Given the description of an element on the screen output the (x, y) to click on. 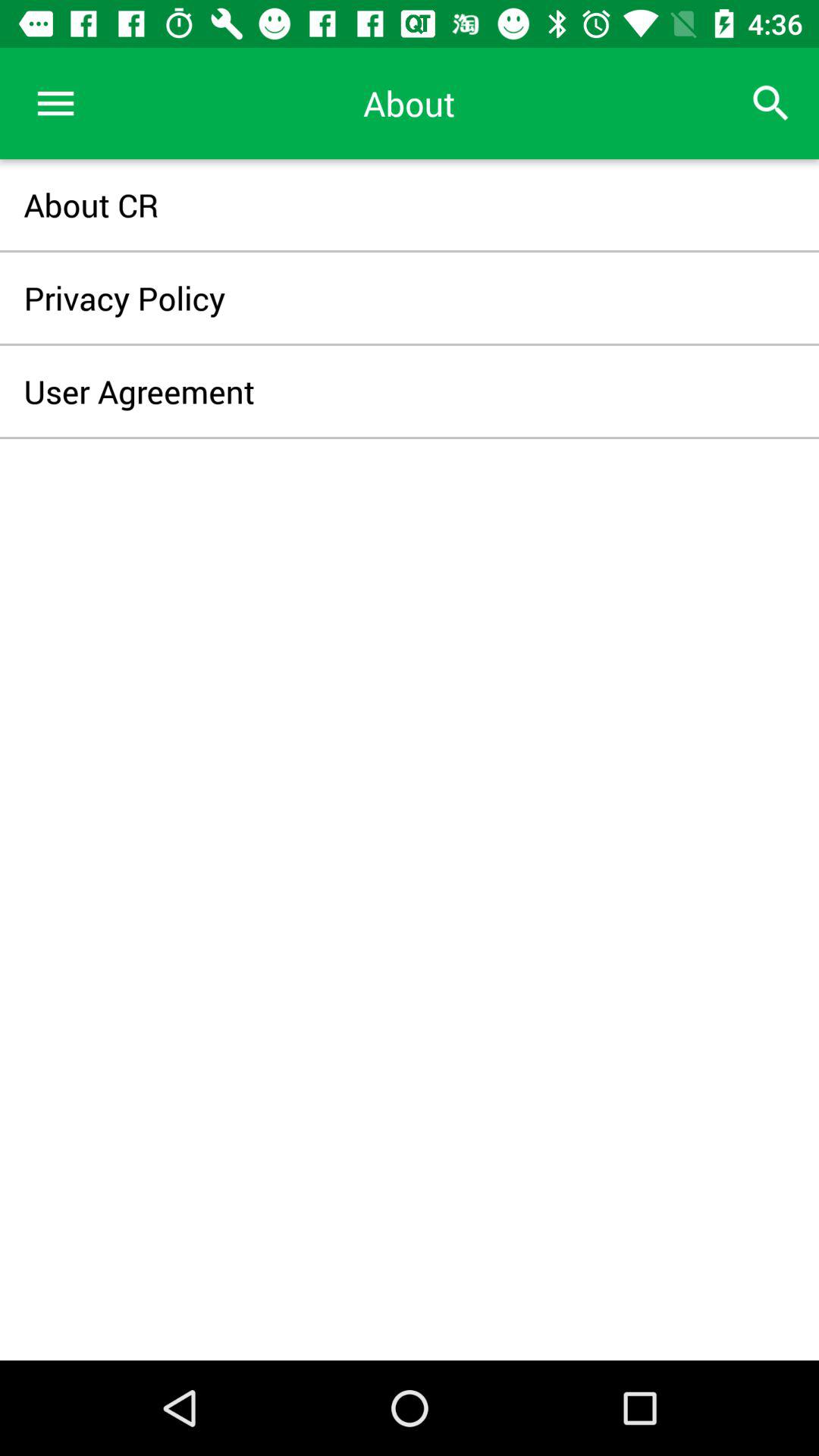
turn on the icon above about cr icon (55, 103)
